Given the description of an element on the screen output the (x, y) to click on. 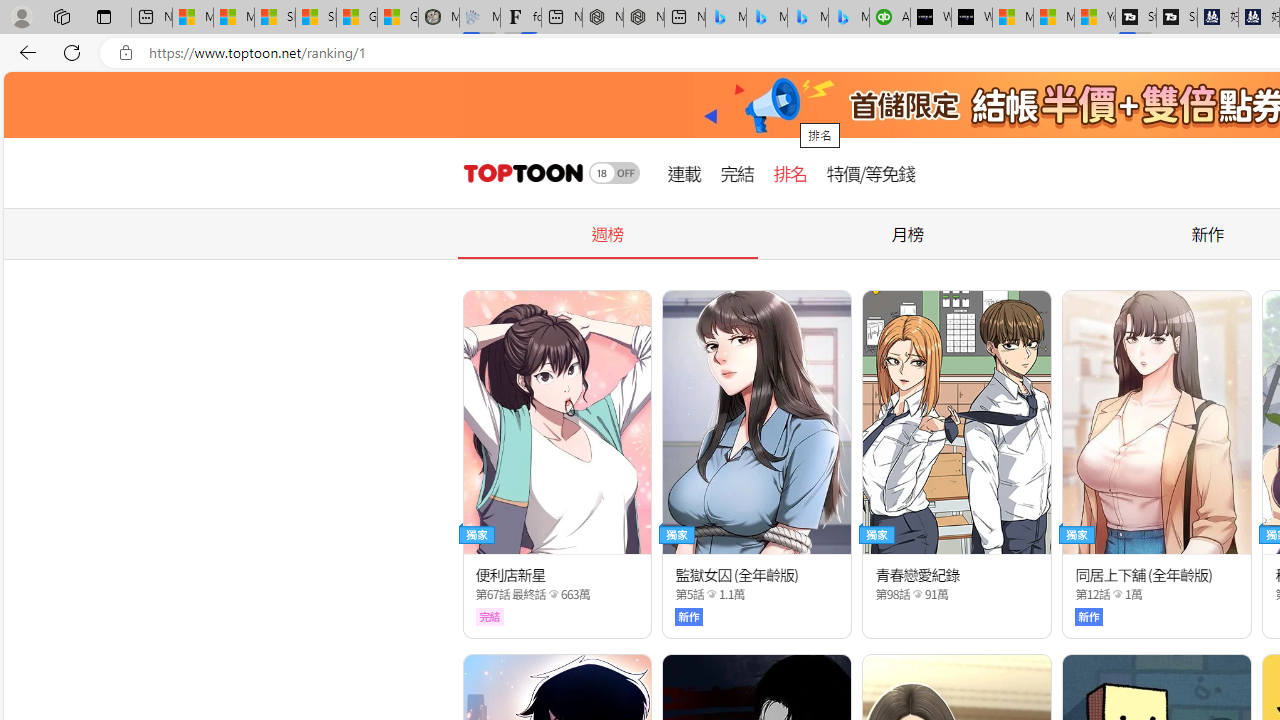
Class: thumb_img (1156, 422)
Microsoft Bing Travel - Stays in Bangkok, Bangkok, Thailand (767, 17)
